Given the description of an element on the screen output the (x, y) to click on. 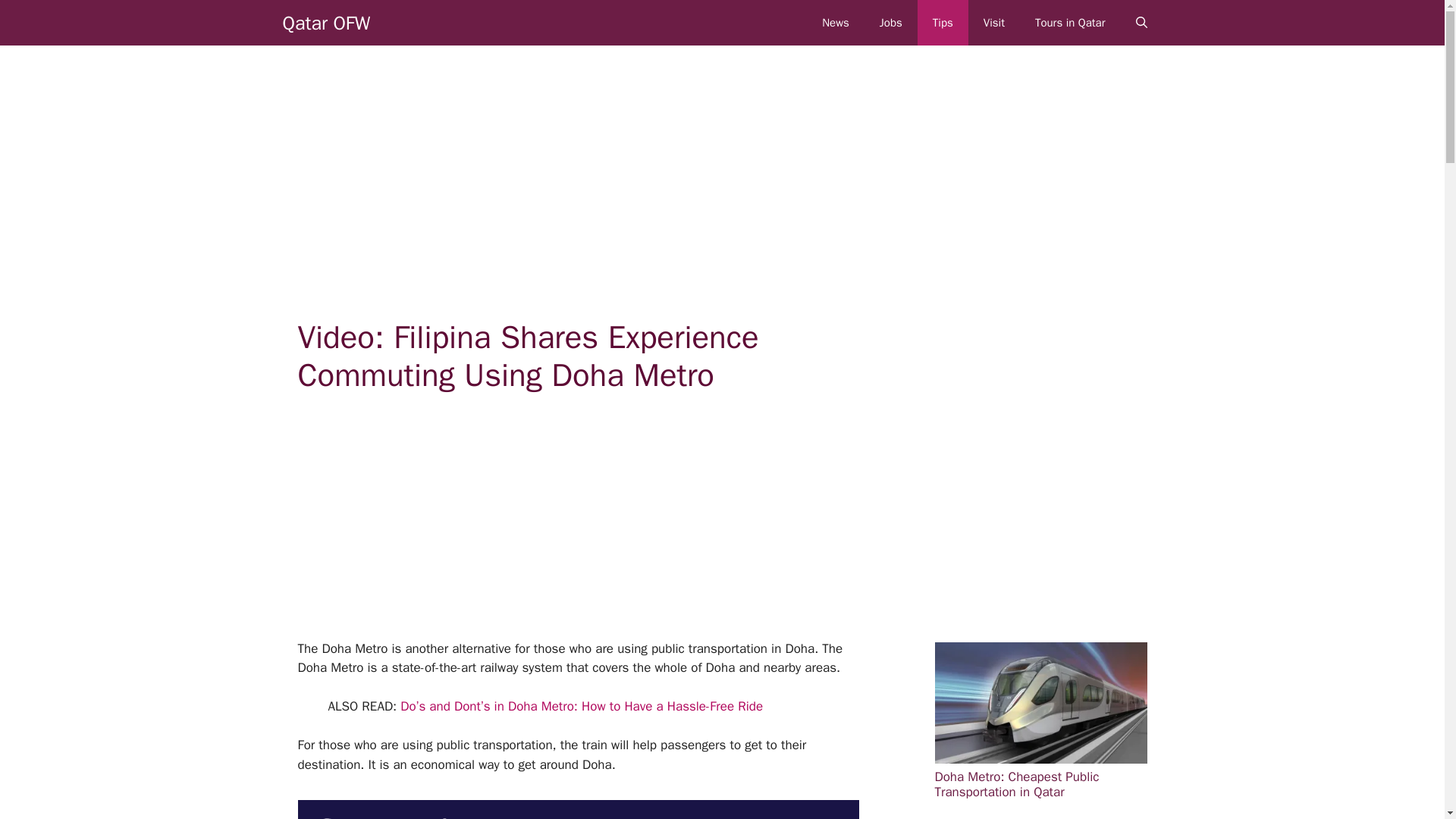
Qatar OFW (325, 22)
News (835, 22)
Jobs (890, 22)
Tips (942, 22)
Doha Metro: Cheapest Public Transportation in Qatar (1040, 720)
Visit (994, 22)
Advertisement (596, 526)
Tours in Qatar (1070, 22)
